Given the description of an element on the screen output the (x, y) to click on. 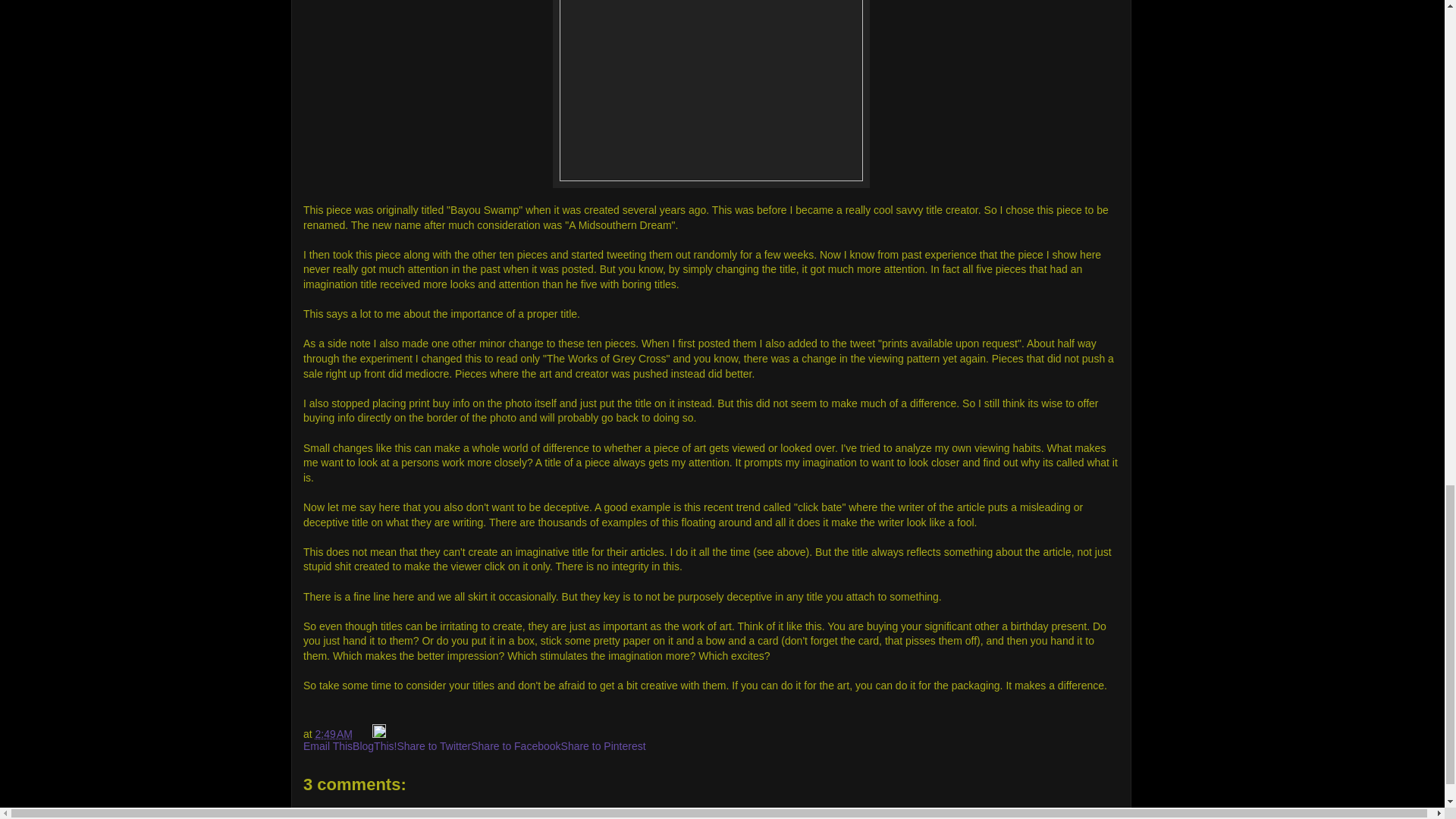
Share to Facebook (515, 746)
Email This (327, 746)
Email This (327, 746)
Share to Facebook (515, 746)
Email Post (363, 734)
Share to Twitter (433, 746)
permanent link (333, 734)
Share to Pinterest (603, 746)
BlogThis! (374, 746)
BlogThis! (374, 746)
Edit Post (378, 734)
Share to Twitter (433, 746)
Share to Pinterest (603, 746)
